Given the description of an element on the screen output the (x, y) to click on. 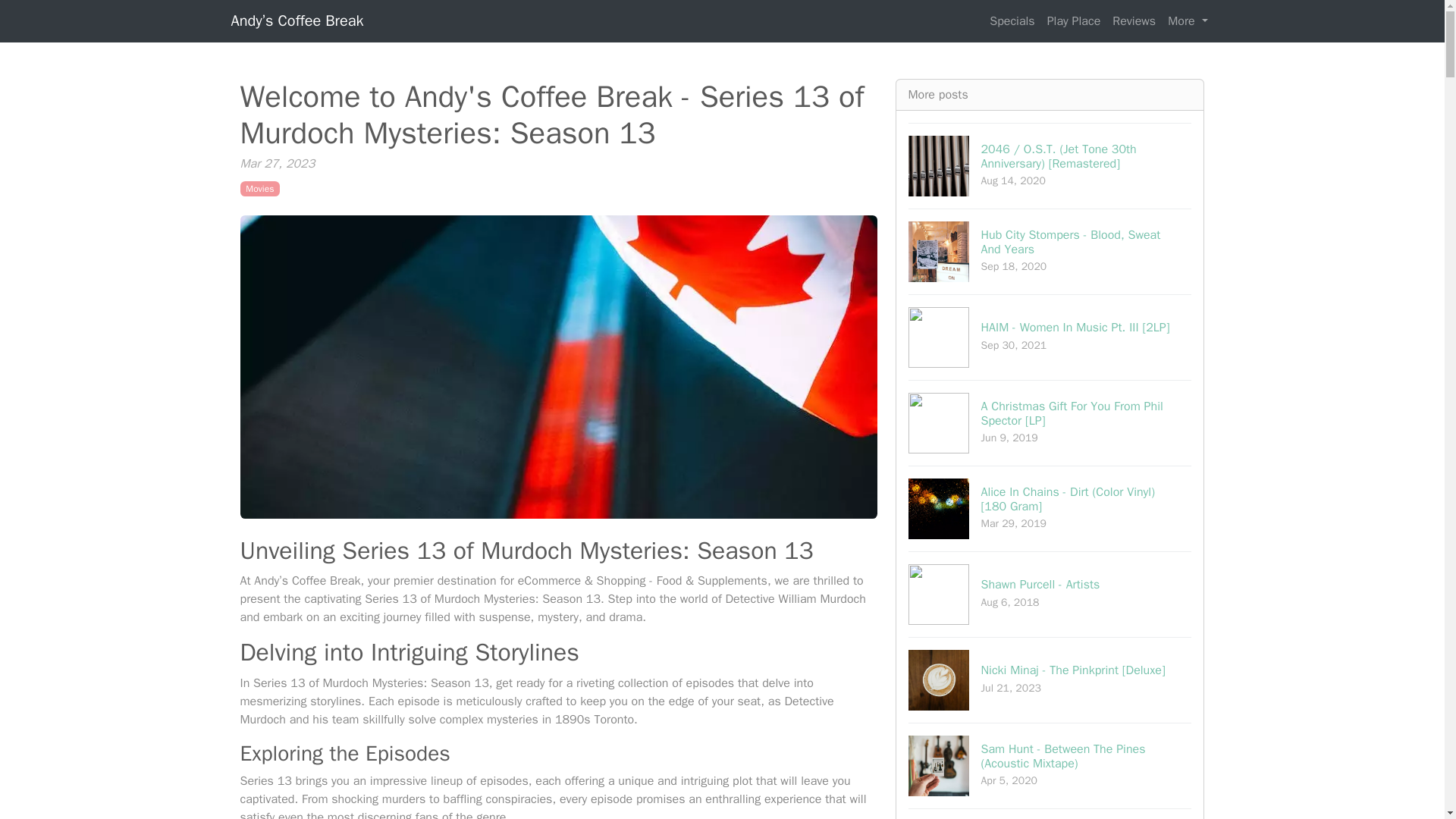
Reviews (1050, 251)
Specials (1133, 20)
Movies (1050, 594)
Play Place (1012, 20)
More (259, 188)
